Given the description of an element on the screen output the (x, y) to click on. 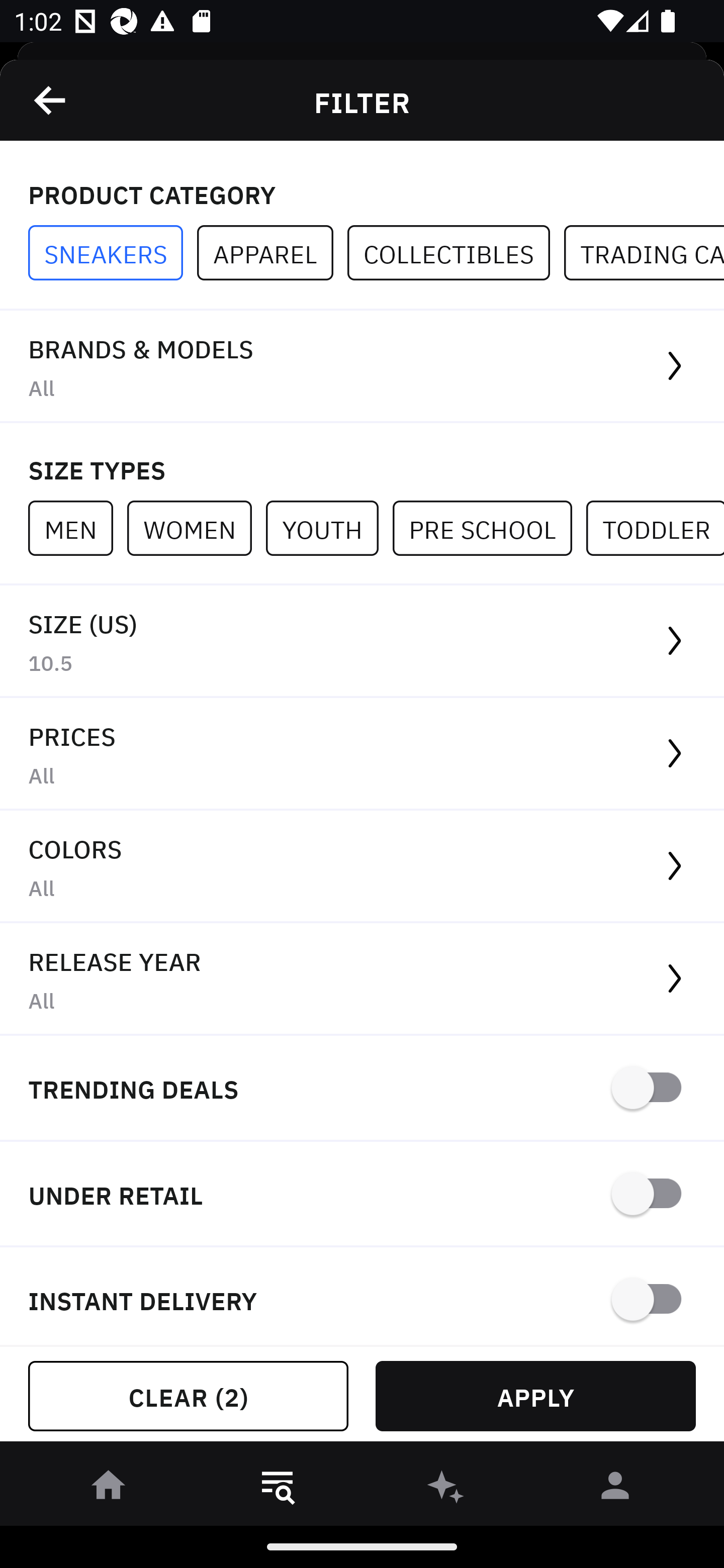
 (50, 100)
SNEAKERS (112, 252)
APPAREL (271, 252)
COLLECTIBLES (455, 252)
TRADING CARDS (643, 252)
BRANDS & MODELS All (362, 366)
MEN (77, 527)
WOMEN (196, 527)
YOUTH (328, 527)
PRE SCHOOL (489, 527)
TODDLER (655, 527)
SIZE (US) 10.5 (362, 640)
PRICES All (362, 753)
COLORS All (362, 866)
RELEASE YEAR All (362, 979)
TRENDING DEALS (362, 1088)
UNDER RETAIL (362, 1194)
INSTANT DELIVERY (362, 1296)
CLEAR (2) (188, 1396)
APPLY (535, 1396)
󰋜 (108, 1488)
󱎸 (277, 1488)
󰫢 (446, 1488)
󰀄 (615, 1488)
